Given the description of an element on the screen output the (x, y) to click on. 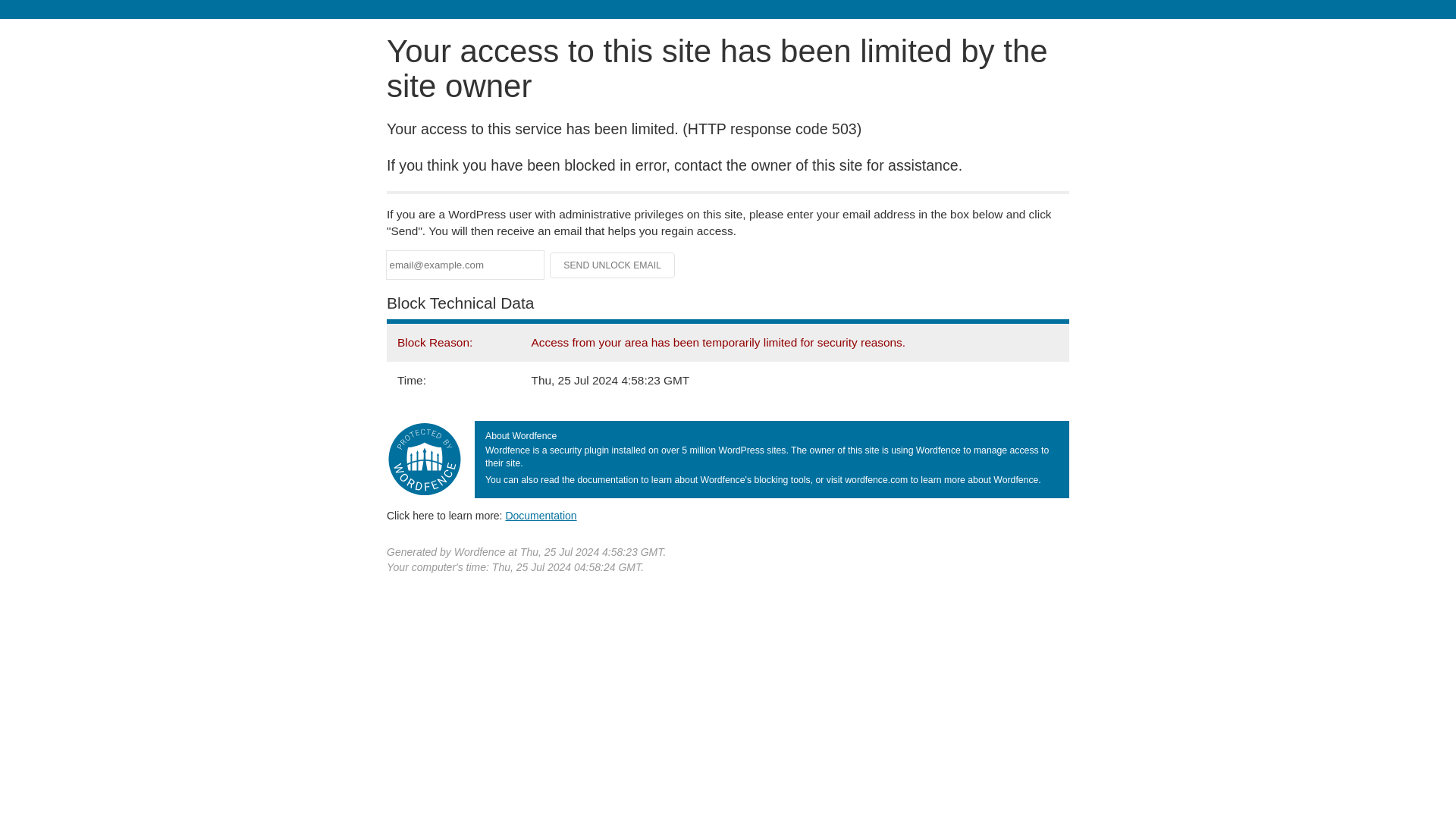
Send Unlock Email (612, 265)
Documentation (540, 515)
Send Unlock Email (612, 265)
